Given the description of an element on the screen output the (x, y) to click on. 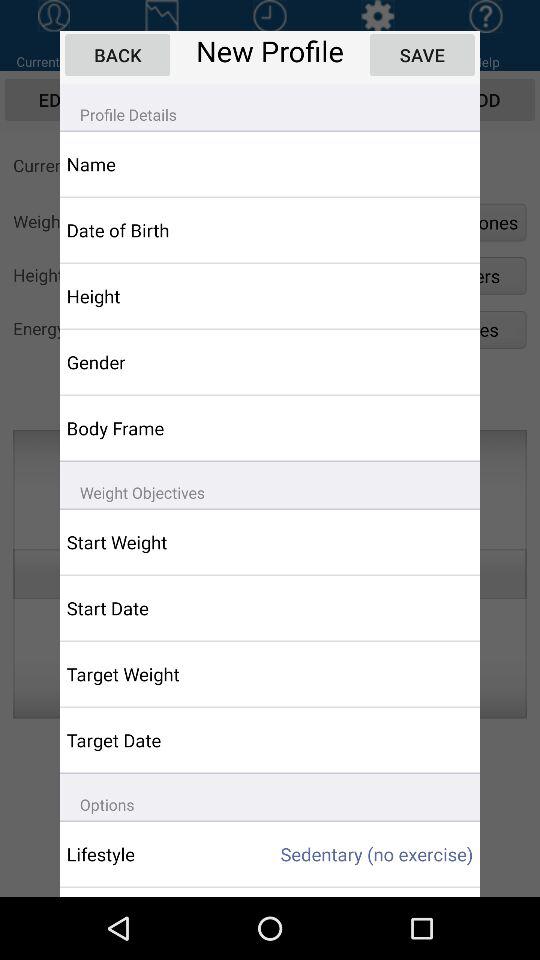
turn off the app above body frame icon (156, 361)
